Given the description of an element on the screen output the (x, y) to click on. 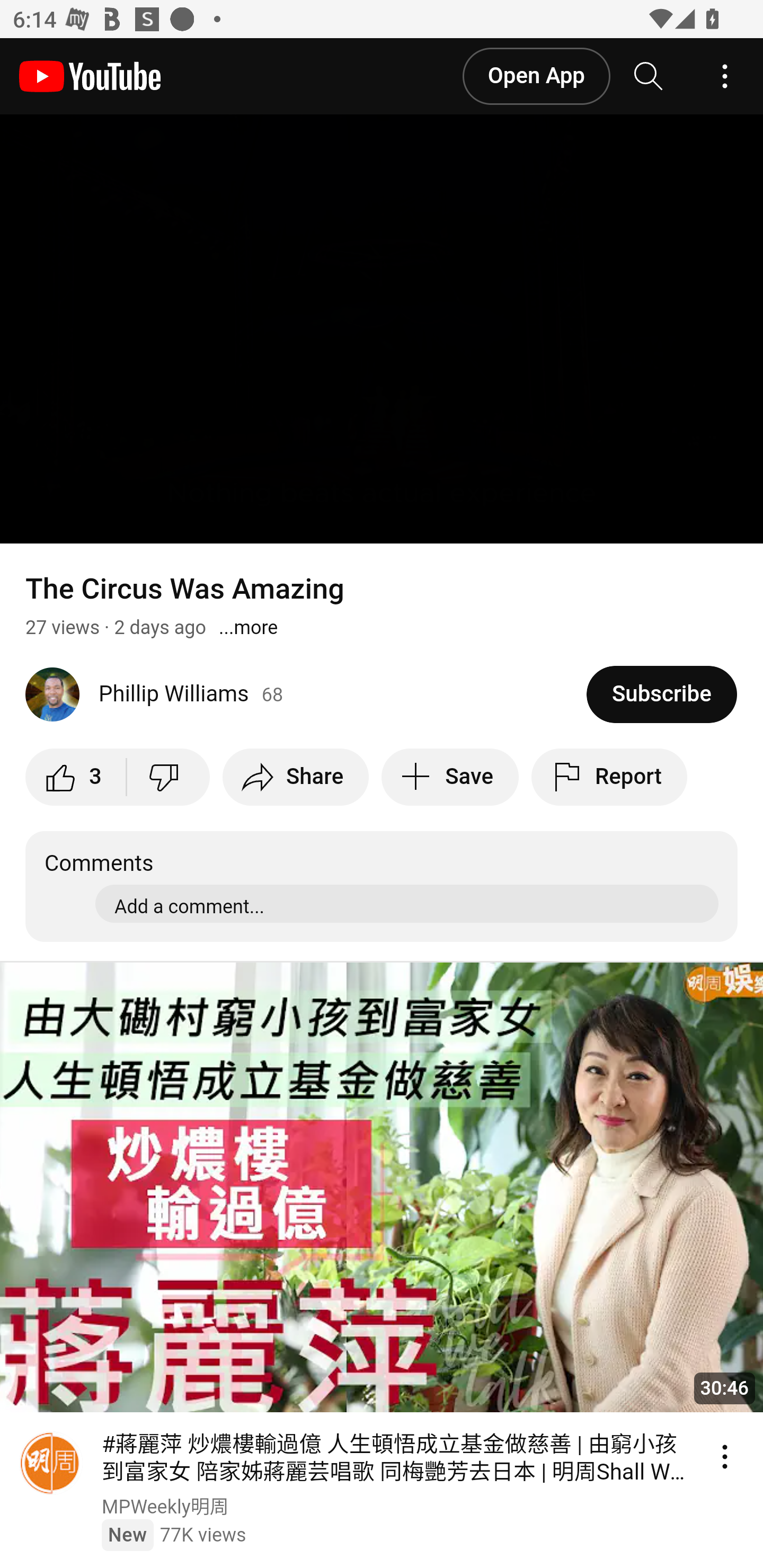
YouTube (89, 75)
Search YouTube (648, 75)
Account (724, 75)
Open App (535, 76)
YouTube Video Player (381, 329)
Show more (247, 627)
Subscribe to Phillip Williams. (661, 694)
Phillip Williams (305, 694)
like this video along with 3 other people (76, 776)
Dislike this video (167, 776)
Share (295, 776)
Save to playlist (450, 776)
Report (609, 776)
Comments (381, 886)
Action menu (724, 1456)
Go to channel (50, 1465)
New (127, 1533)
